Given the description of an element on the screen output the (x, y) to click on. 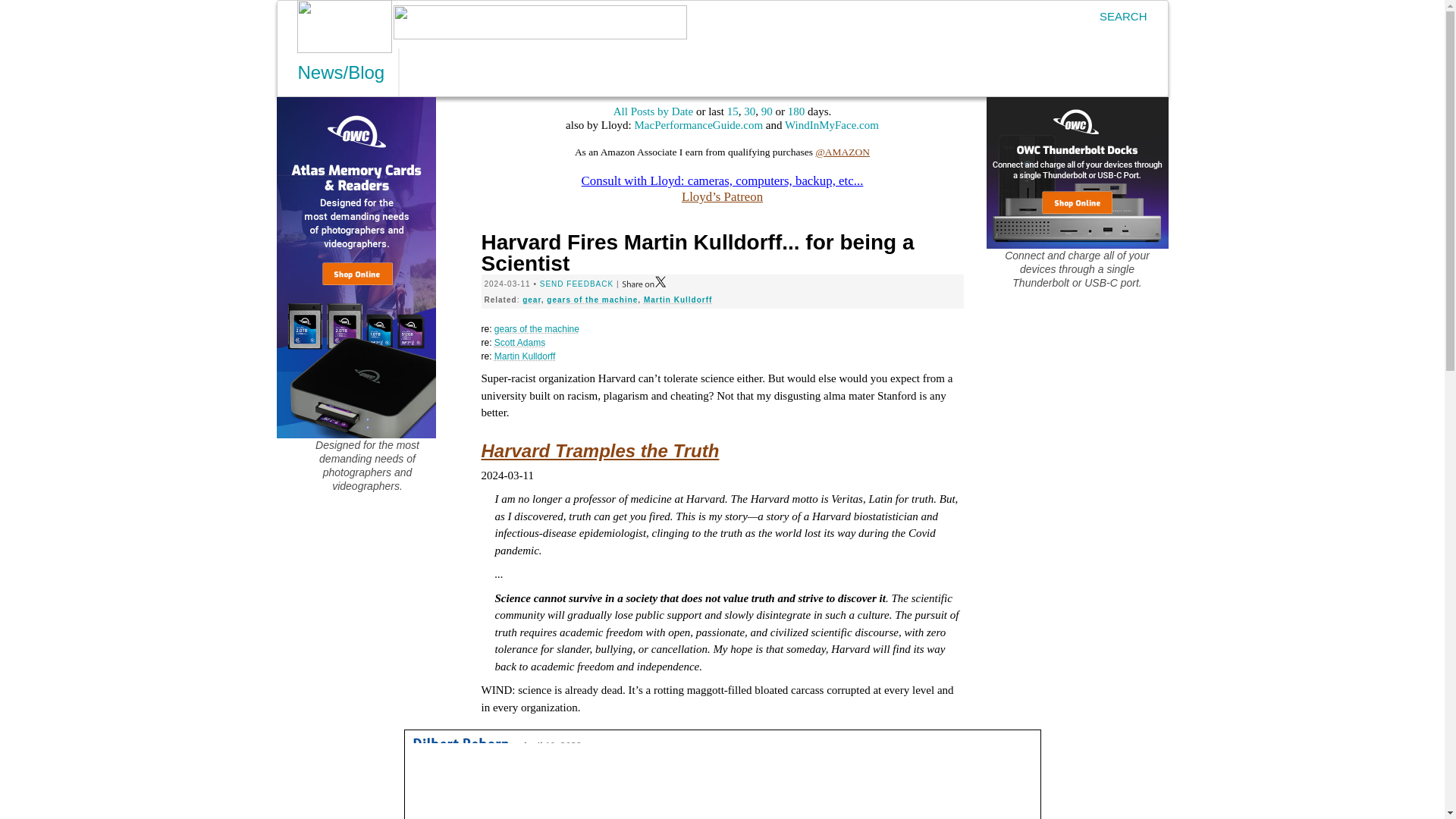
180 (796, 111)
Martin Kulldorff (677, 299)
Harvard Fires Martin Kulldorff... for being a Scientist (697, 252)
SEND FEEDBACK (576, 284)
15 (732, 111)
WindInMyFace.com (831, 124)
gears of the machine (592, 299)
Consult with Lloyd: cameras, computers, backup, etc... (721, 180)
Scott Adams (519, 342)
90 (767, 111)
Harvard Tramples the Truth (599, 450)
SEARCH (1115, 15)
30 (749, 111)
gear (531, 299)
All Posts by Date (652, 111)
